Given the description of an element on the screen output the (x, y) to click on. 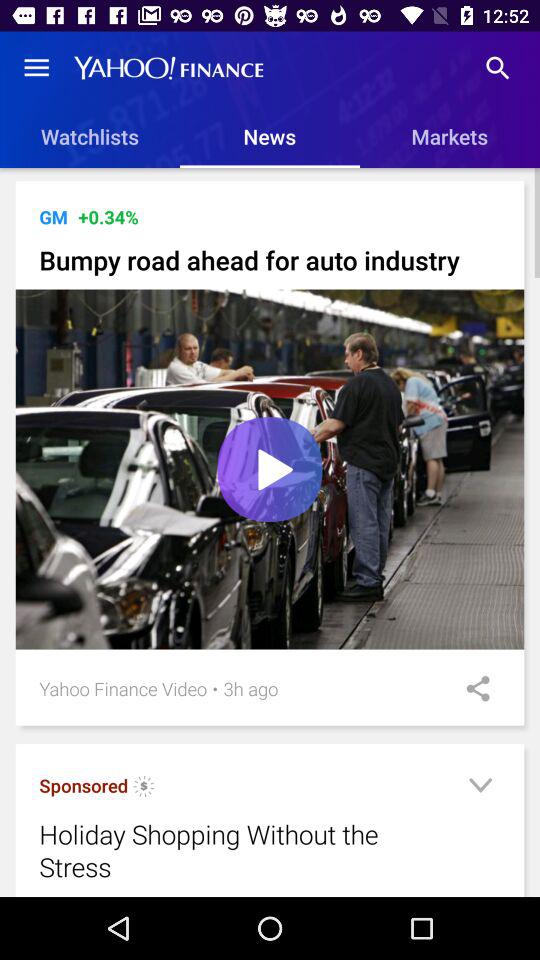
choose item to the right of the 3h ago icon (471, 688)
